Given the description of an element on the screen output the (x, y) to click on. 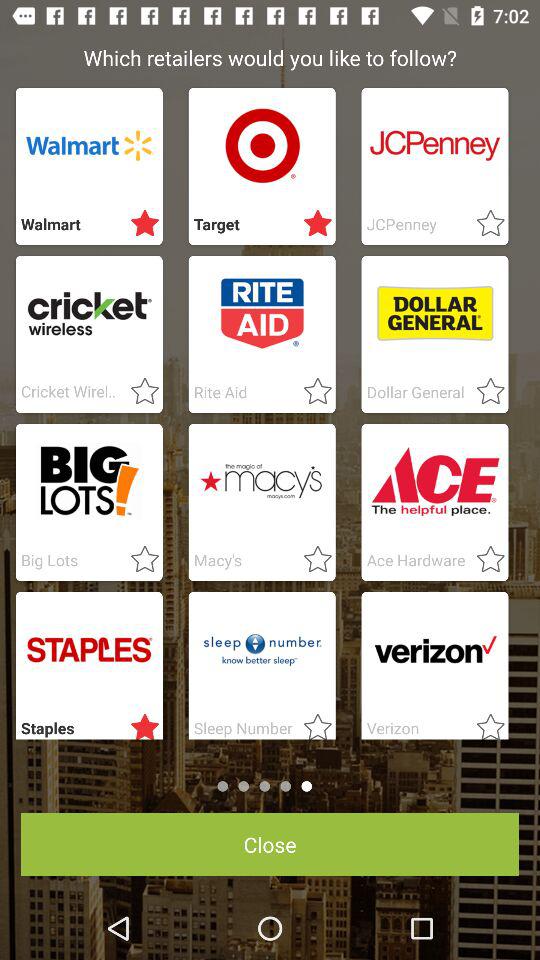
starred (312, 723)
